Given the description of an element on the screen output the (x, y) to click on. 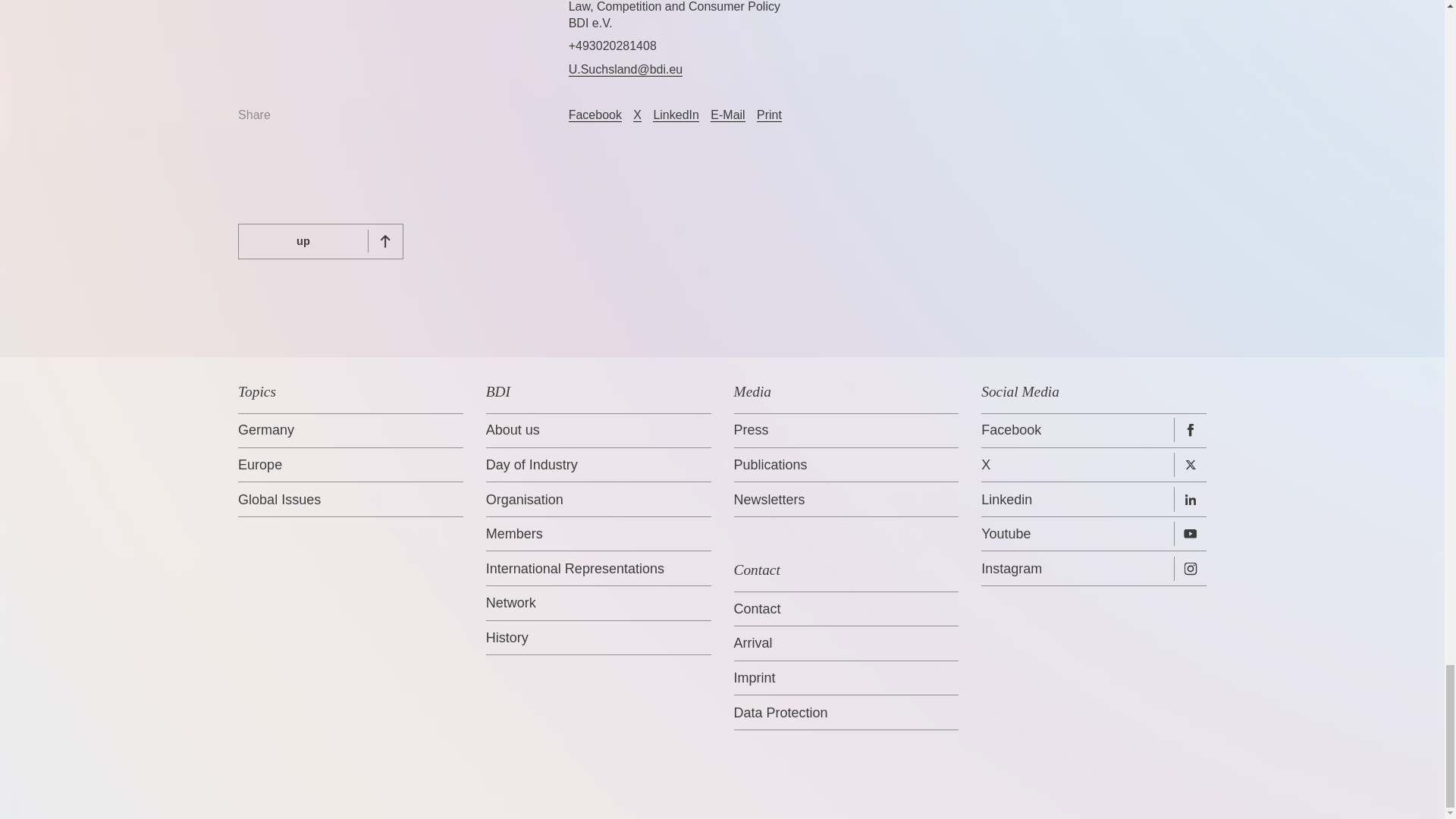
Facebook (595, 115)
Email (727, 115)
LinkedIn (675, 115)
